Given the description of an element on the screen output the (x, y) to click on. 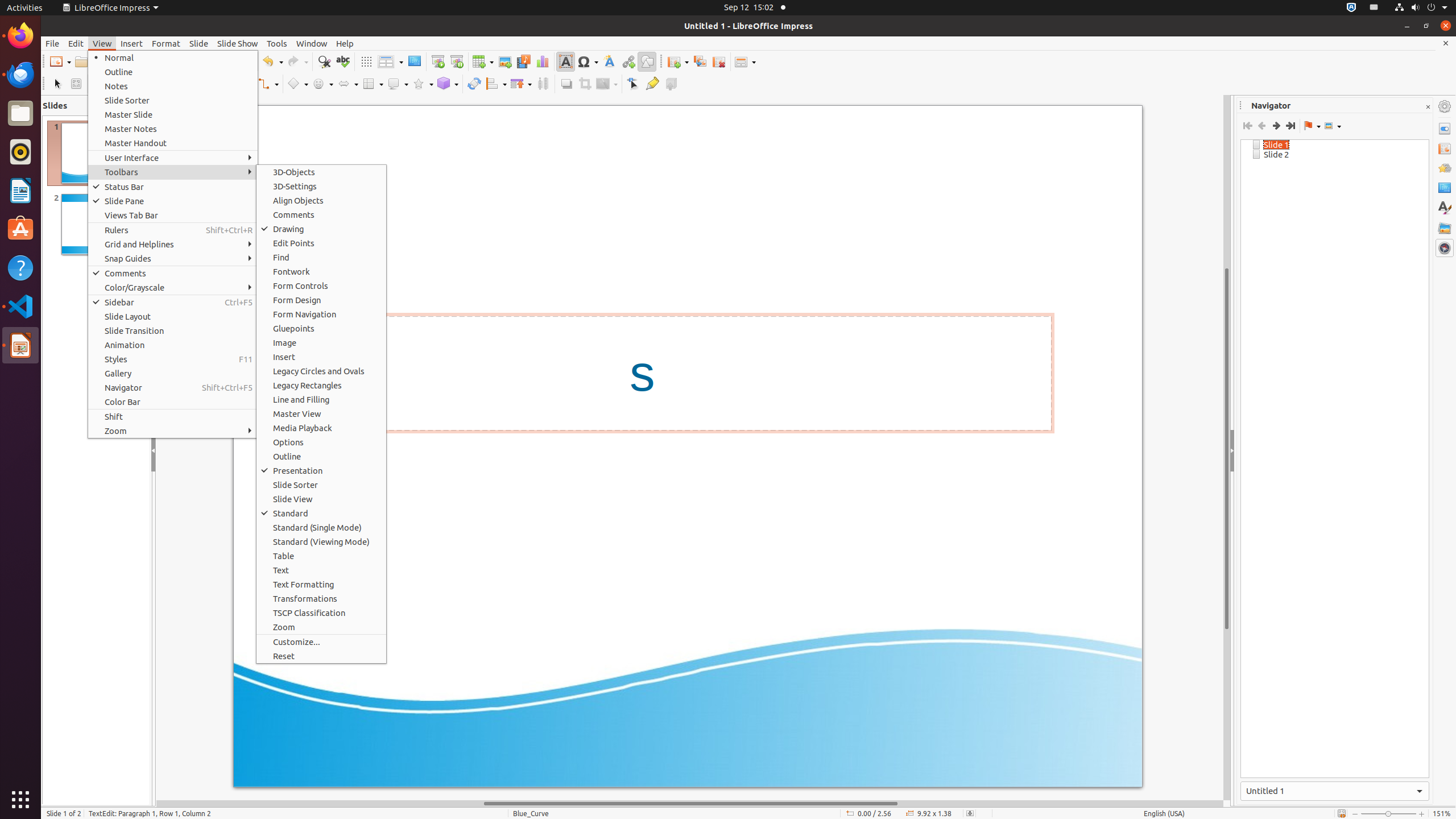
:1.21/StatusNotifierItem Element type: menu (1373, 7)
Slide Pane Element type: check-menu-item (172, 200)
Close Sidebar Deck Element type: push-button (1427, 106)
Properties Element type: radio-button (1444, 128)
